Given the description of an element on the screen output the (x, y) to click on. 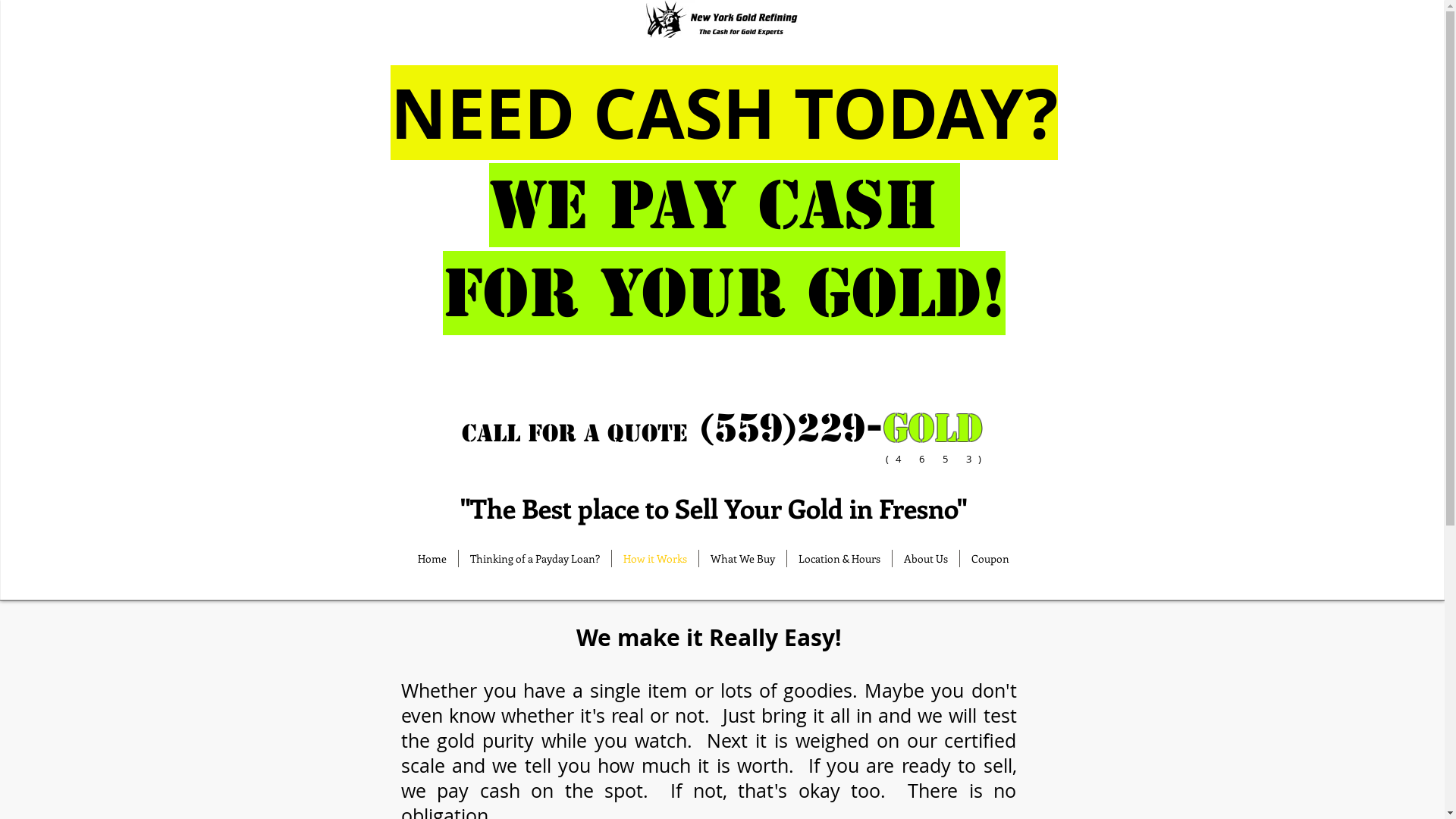
Thinking of a Payday Loan? Element type: text (534, 558)
Home Element type: text (432, 558)
About Us Element type: text (924, 558)
How it Works Element type: text (654, 558)
Location & Hours Element type: text (839, 558)
What We Buy Element type: text (742, 558)
Coupon Element type: text (990, 558)
